Given the description of an element on the screen output the (x, y) to click on. 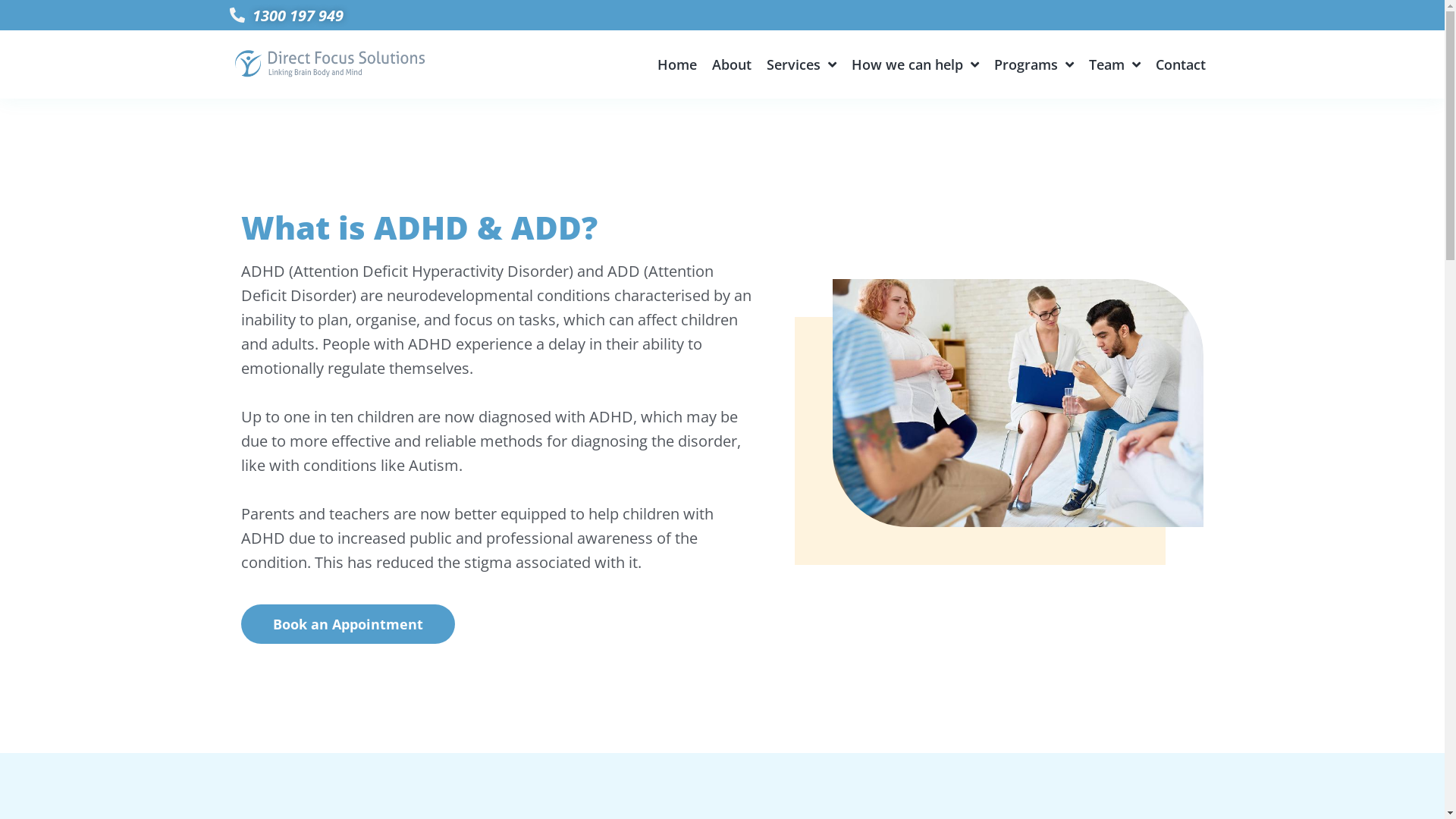
Services Element type: text (801, 64)
How we can help Element type: text (915, 64)
Programs Element type: text (1033, 64)
Contact Element type: text (1180, 64)
1300 197 949 Element type: text (721, 14)
Home Element type: text (676, 64)
Book an Appointment Element type: text (348, 623)
Team Element type: text (1114, 64)
About Element type: text (731, 64)
